Given the description of an element on the screen output the (x, y) to click on. 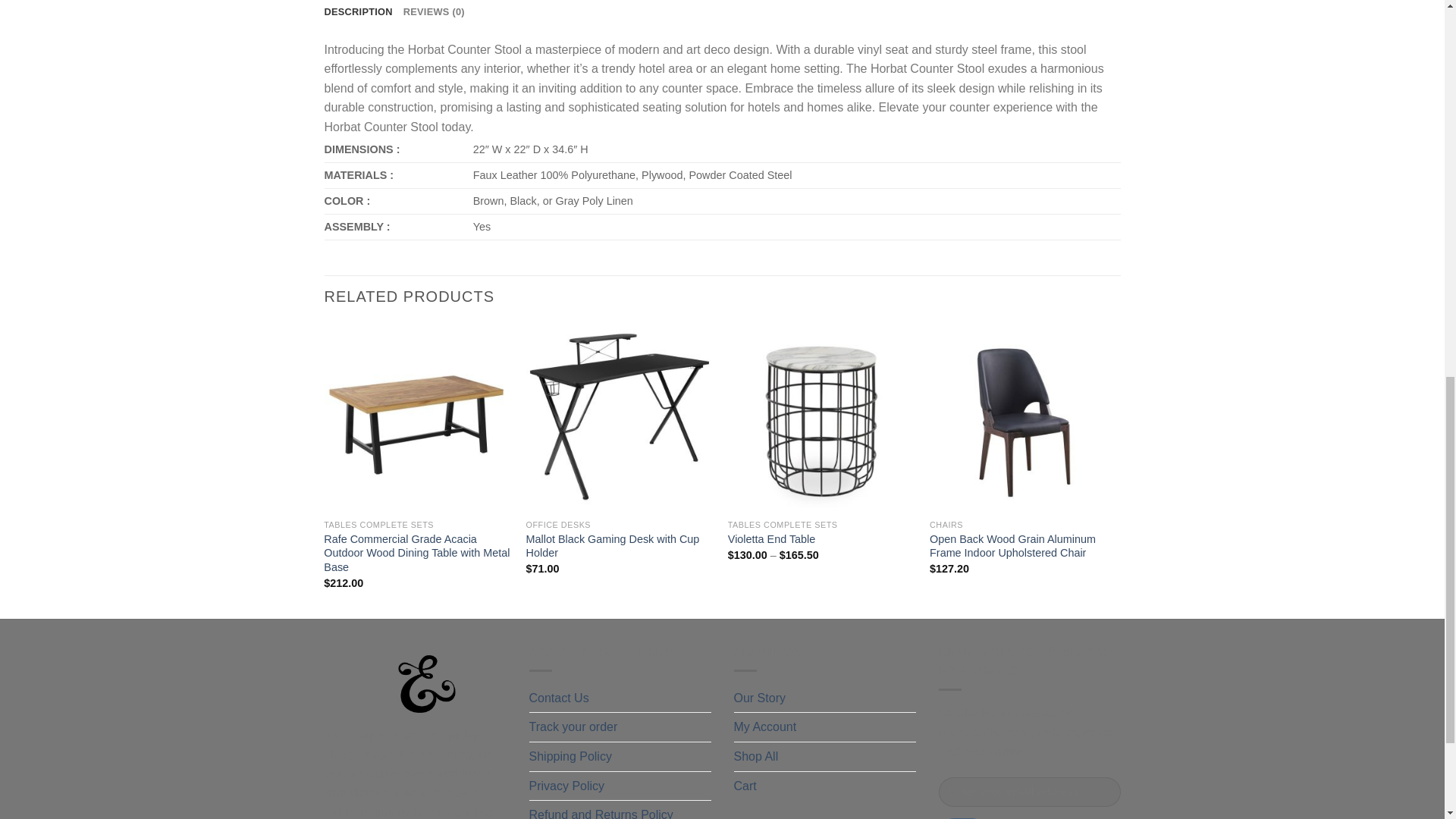
Go (963, 818)
